Given the description of an element on the screen output the (x, y) to click on. 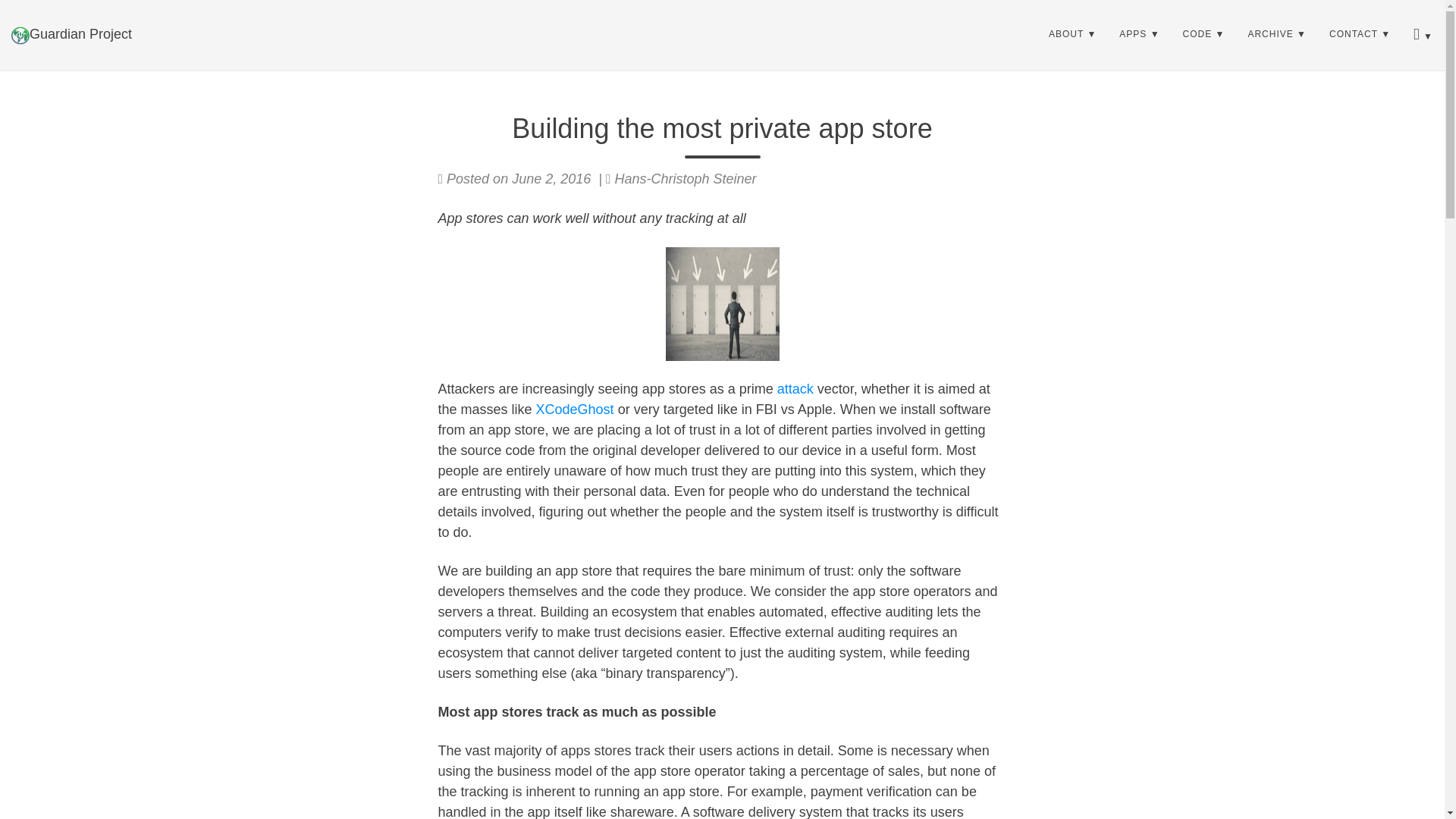
Guardian Project (71, 34)
ABOUT (1072, 34)
Guardian Project (71, 34)
ARCHIVE (1276, 34)
APPS (1139, 34)
CODE (1204, 34)
